Given the description of an element on the screen output the (x, y) to click on. 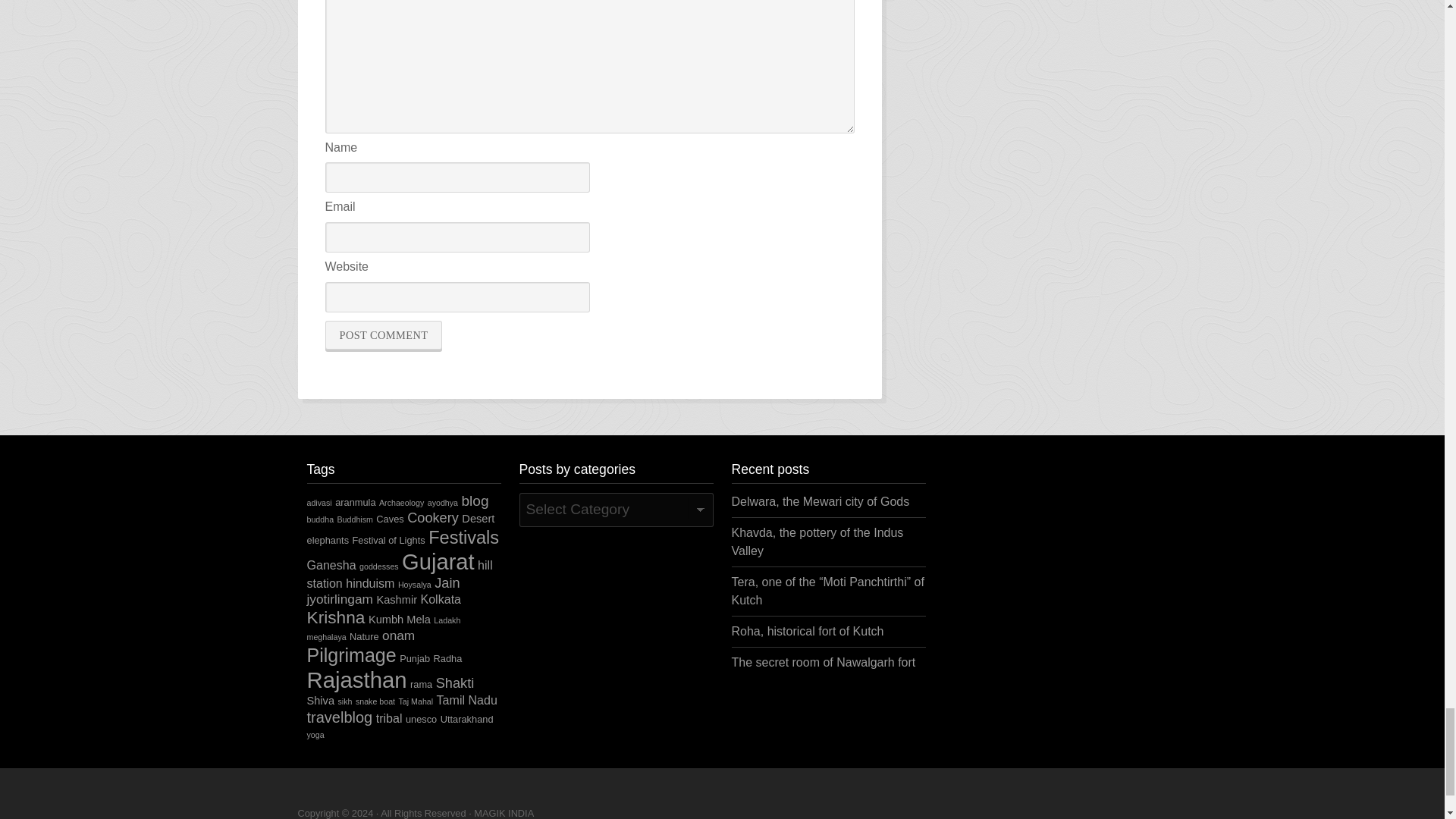
Post Comment (383, 335)
